Given the description of an element on the screen output the (x, y) to click on. 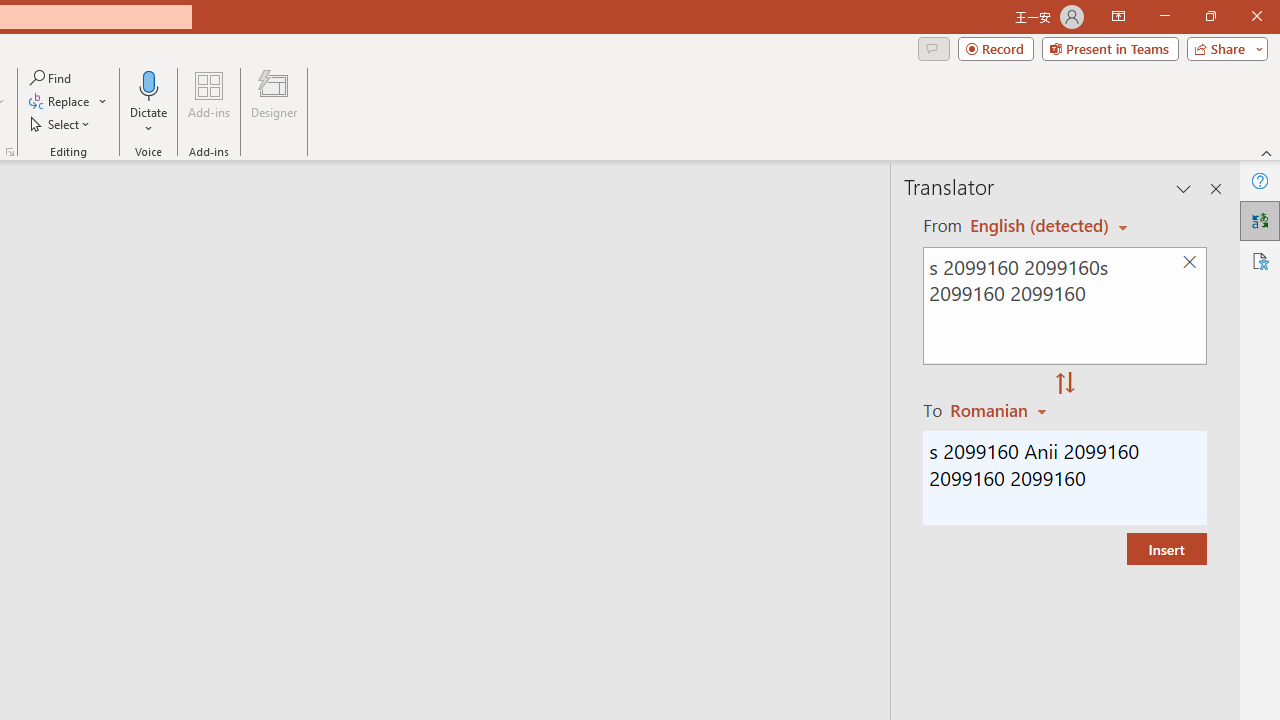
Romanian (1001, 409)
